Given the description of an element on the screen output the (x, y) to click on. 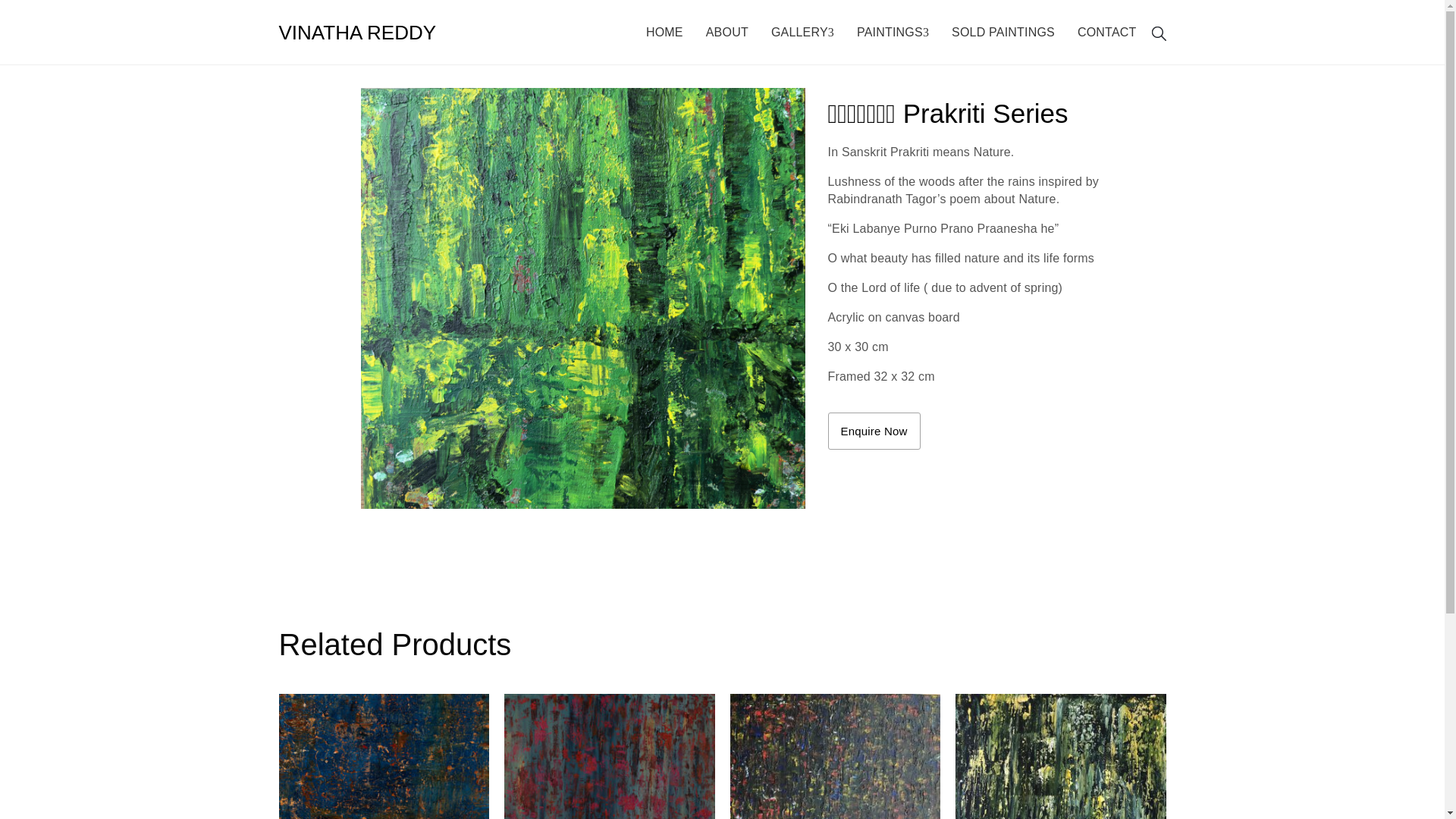
PAINTINGS (895, 32)
GALLERY (805, 32)
Search (1038, 409)
SOLD PAINTINGS (1006, 32)
Enquire Now (874, 430)
CONTACT (1109, 32)
VINATHA REDDY (357, 32)
